Given the description of an element on the screen output the (x, y) to click on. 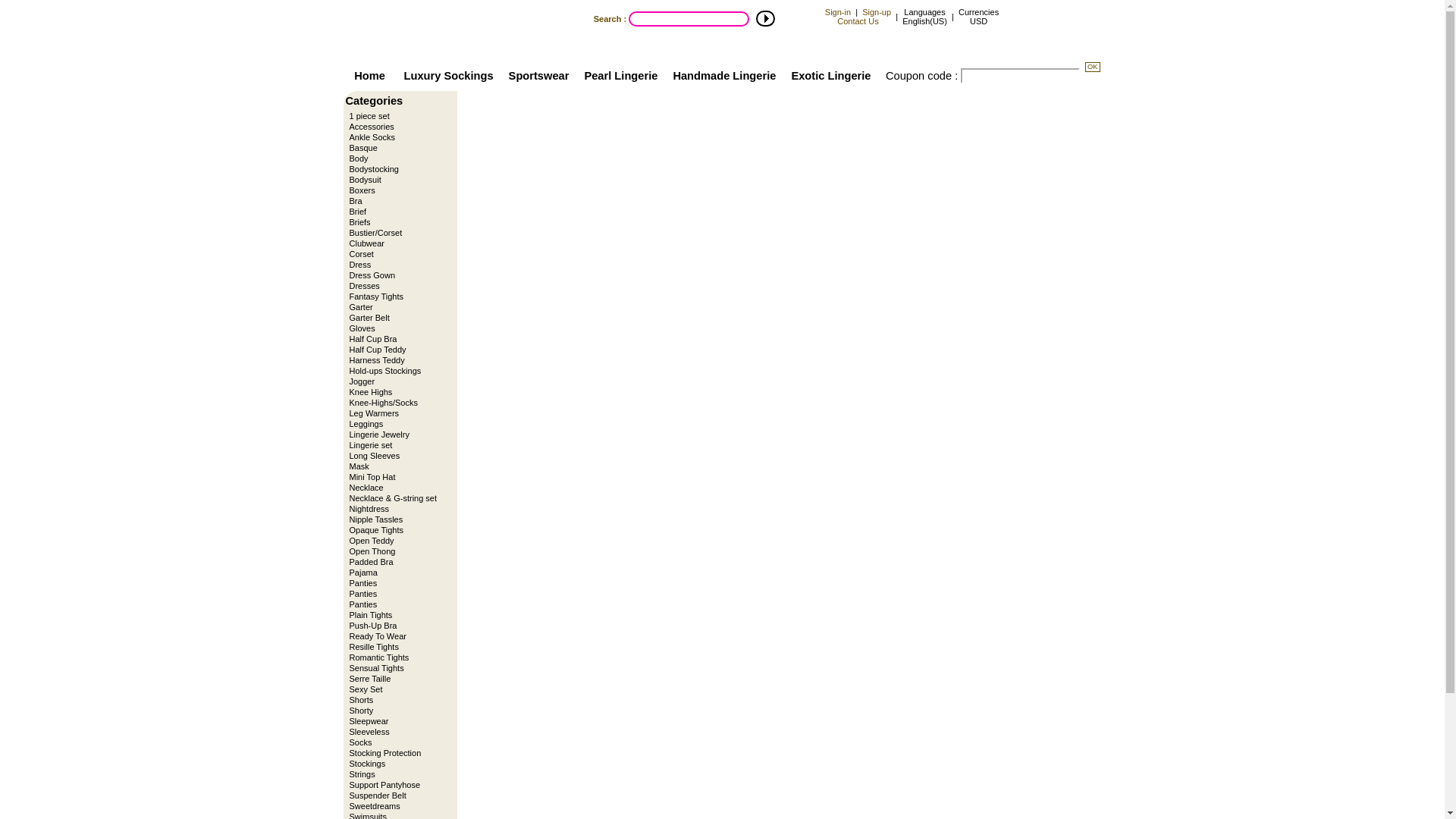
Bra (397, 200)
Garter (397, 307)
Accessories (397, 126)
Sportswear (539, 75)
Half Cup Bra (397, 338)
Bodysuit (397, 179)
Dresses (397, 285)
Contact Us (857, 20)
Home (370, 75)
Luxury Sockings (448, 75)
Fantasy Tights (397, 296)
1 piece set (397, 115)
Handmade Lingerie (723, 75)
Basque (397, 147)
Bodystocking (397, 168)
